Given the description of an element on the screen output the (x, y) to click on. 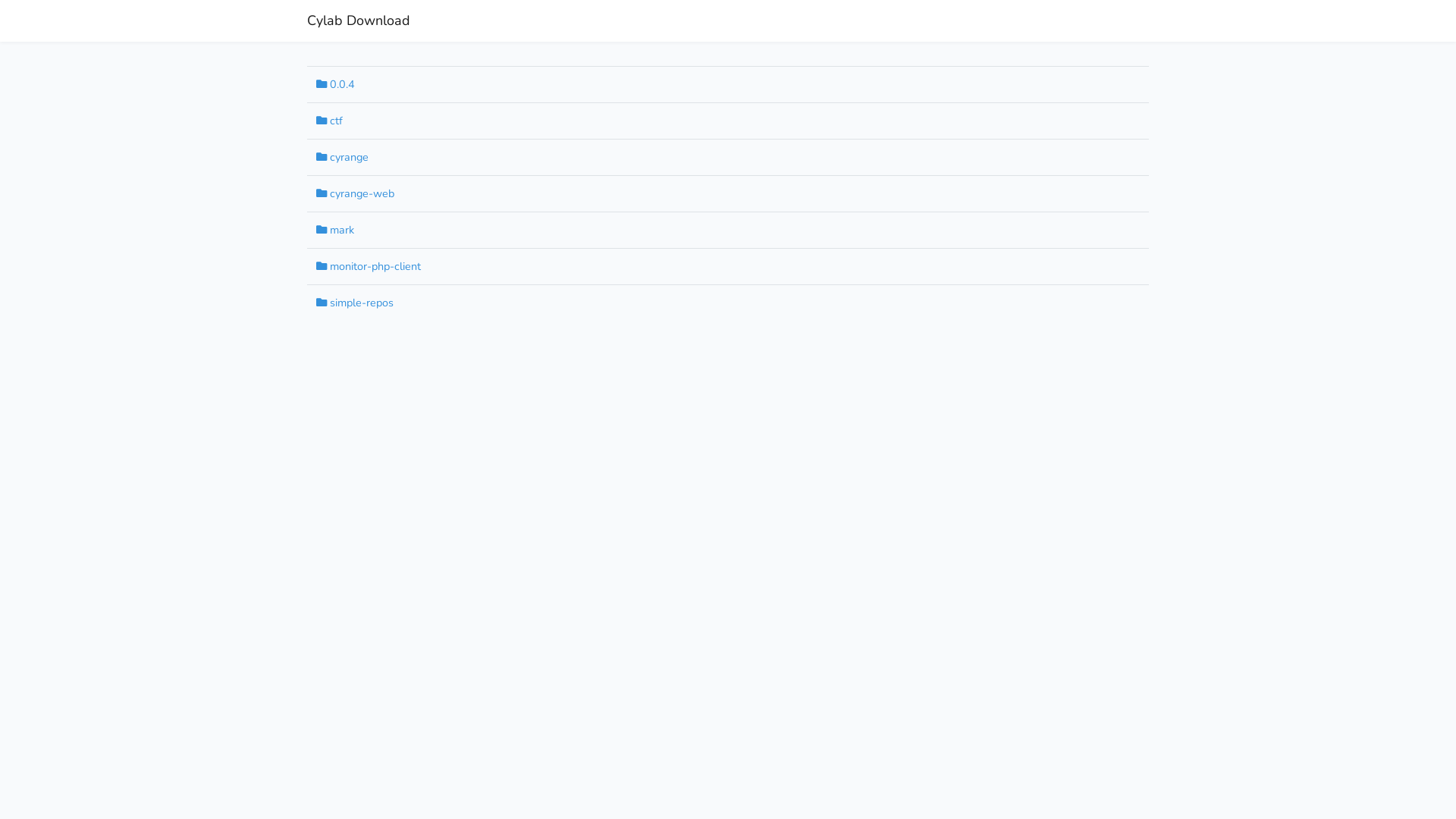
mark Element type: text (335, 229)
ctf Element type: text (329, 120)
simple-repos Element type: text (354, 302)
cyrange Element type: text (342, 156)
cyrange-web Element type: text (355, 192)
Cylab Download Element type: text (358, 20)
monitor-php-client Element type: text (368, 265)
0.0.4 Element type: text (335, 83)
